Given the description of an element on the screen output the (x, y) to click on. 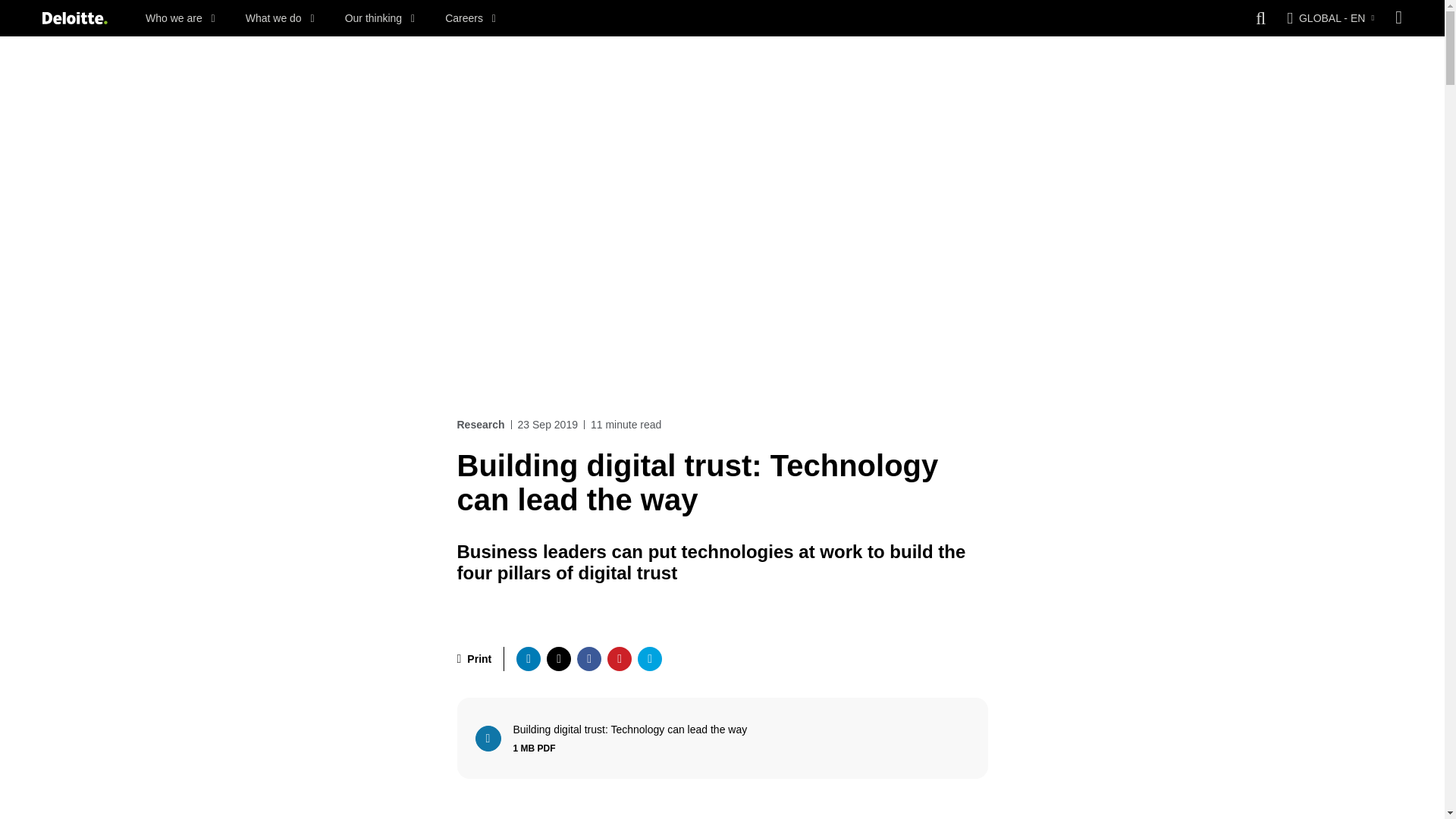
share via... (588, 658)
What we do (280, 18)
share via... (558, 658)
share via... (619, 658)
share via... (649, 658)
Who we are (180, 18)
Print (474, 658)
Careers (470, 18)
share via... (528, 658)
Deloitte (74, 18)
Our thinking (379, 18)
